Given the description of an element on the screen output the (x, y) to click on. 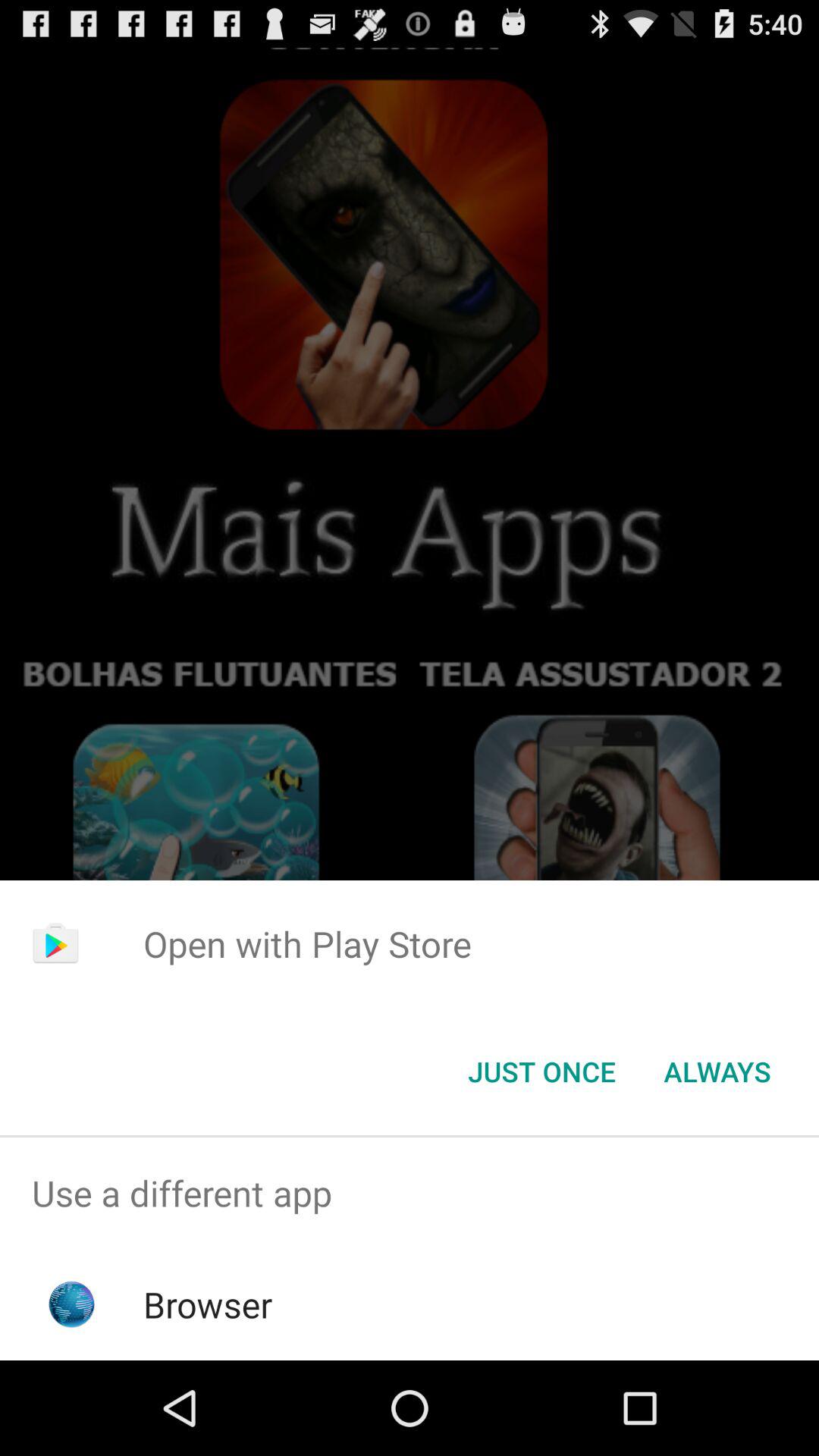
turn off icon next to the always item (541, 1071)
